Given the description of an element on the screen output the (x, y) to click on. 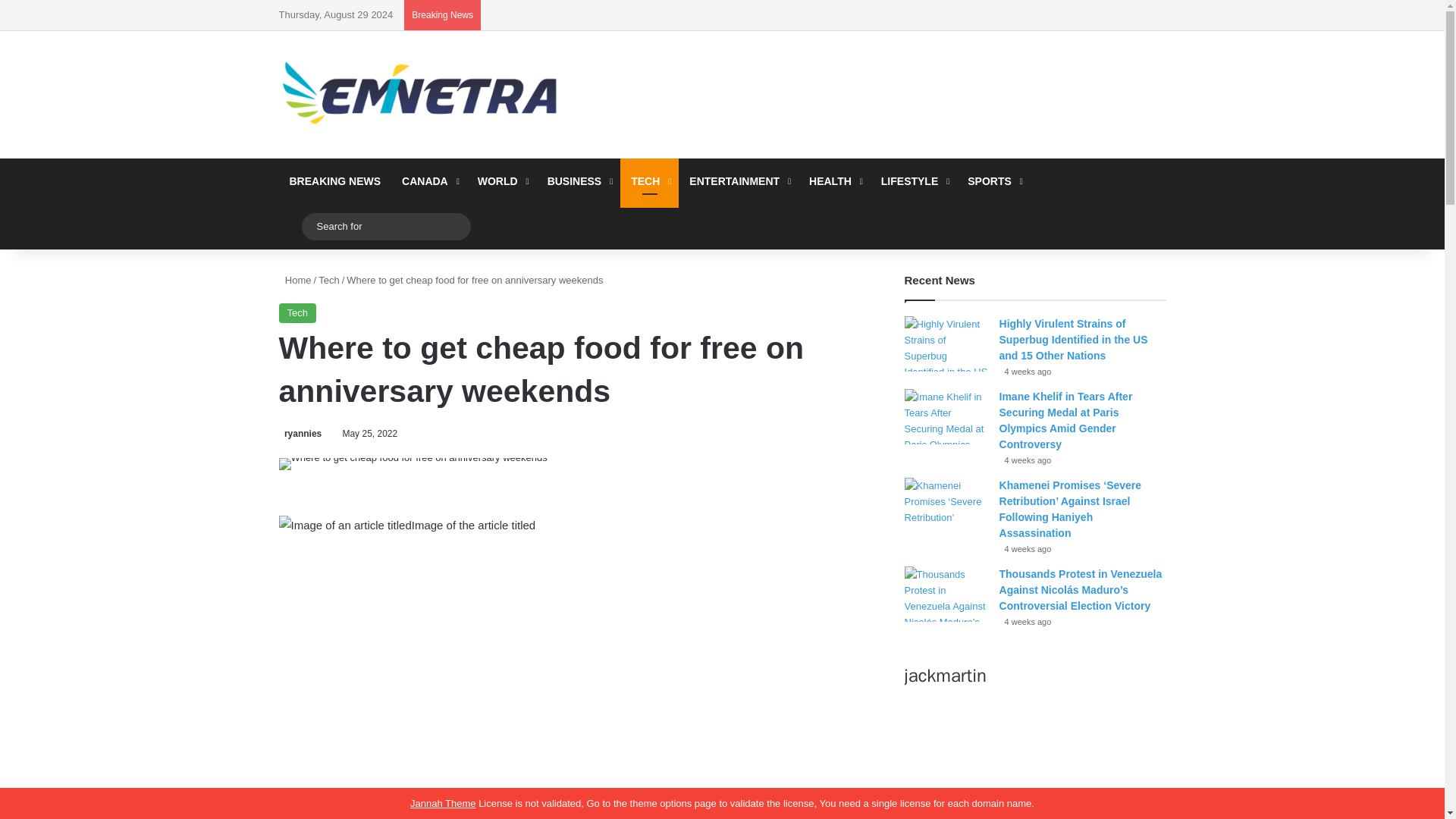
ryannies (300, 433)
HEALTH (833, 180)
SPORTS (993, 180)
Tech (328, 279)
CANADA (429, 180)
WORLD (502, 180)
BUSINESS (579, 180)
BREAKING NEWS (335, 180)
Where to get cheap food for free on anniversary weekends (413, 463)
ryannies (300, 433)
